Given the description of an element on the screen output the (x, y) to click on. 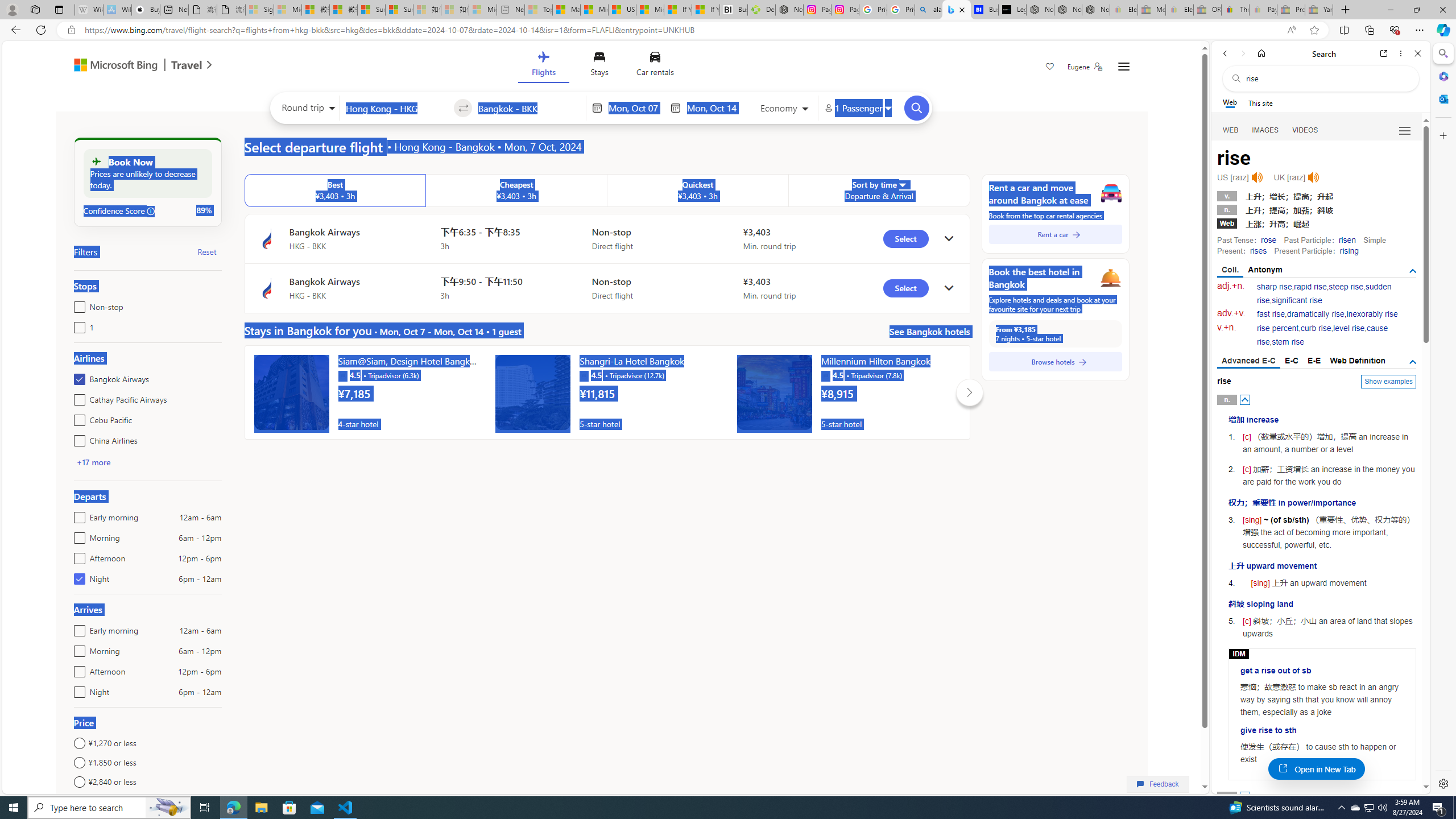
fast rise (1270, 313)
Eugene (1084, 66)
AutomationID: posbtn_0 (1245, 399)
Class: autosuggest-container full-height no-y-padding (528, 107)
Microsoft Services Agreement - Sleeping (288, 9)
sudden rise (1323, 293)
Search Filter, WEB (1231, 129)
Antonym (1265, 269)
Marine life - MSN - Sleeping (566, 9)
